Given the description of an element on the screen output the (x, y) to click on. 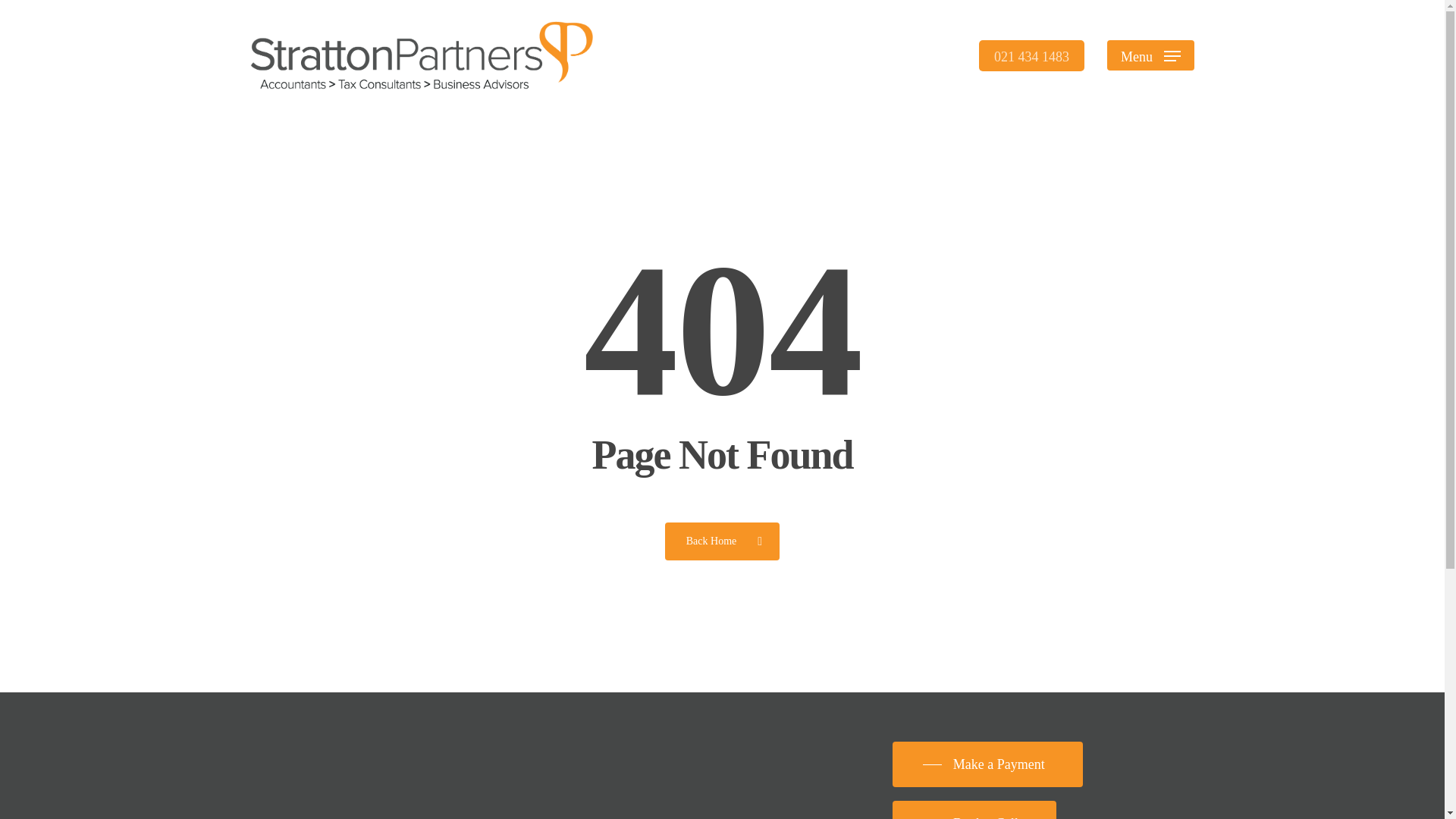
Back Home (721, 540)
Book a Call (974, 814)
Menu (1149, 54)
Make a Payment (987, 764)
021 434 1483 (1031, 54)
